Given the description of an element on the screen output the (x, y) to click on. 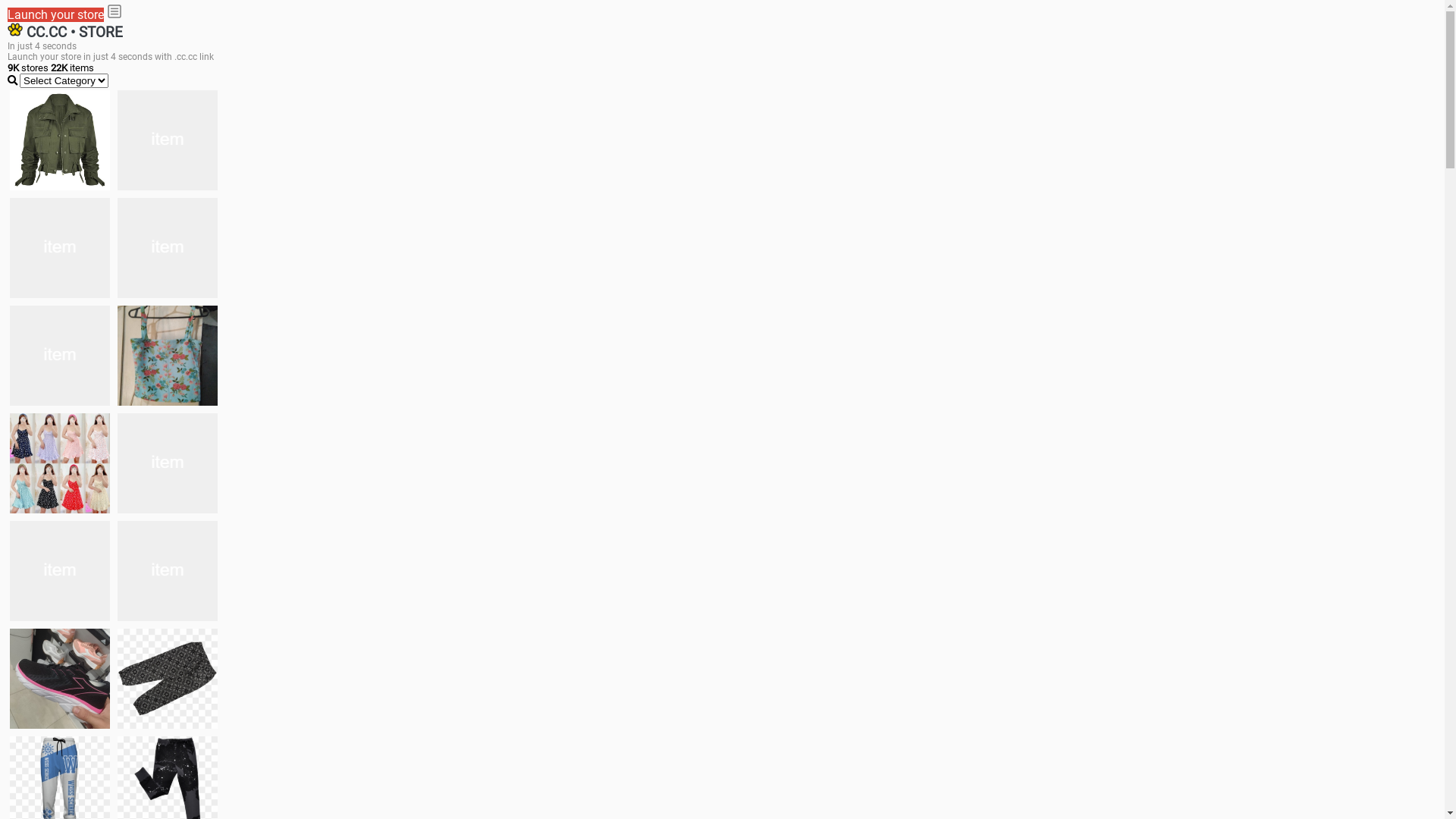
Short pant Element type: hover (167, 678)
white shoes Element type: hover (167, 140)
Zapatillas pumas Element type: hover (167, 570)
Shoes Element type: hover (167, 463)
jacket Element type: hover (59, 140)
Shoes for boys Element type: hover (167, 247)
Zapatillas Element type: hover (59, 678)
shoes for boys Element type: hover (59, 247)
Launch your store Element type: text (55, 14)
Things we need Element type: hover (59, 355)
Dress/square nect top Element type: hover (59, 463)
Ukay cloth Element type: hover (167, 355)
